Given the description of an element on the screen output the (x, y) to click on. 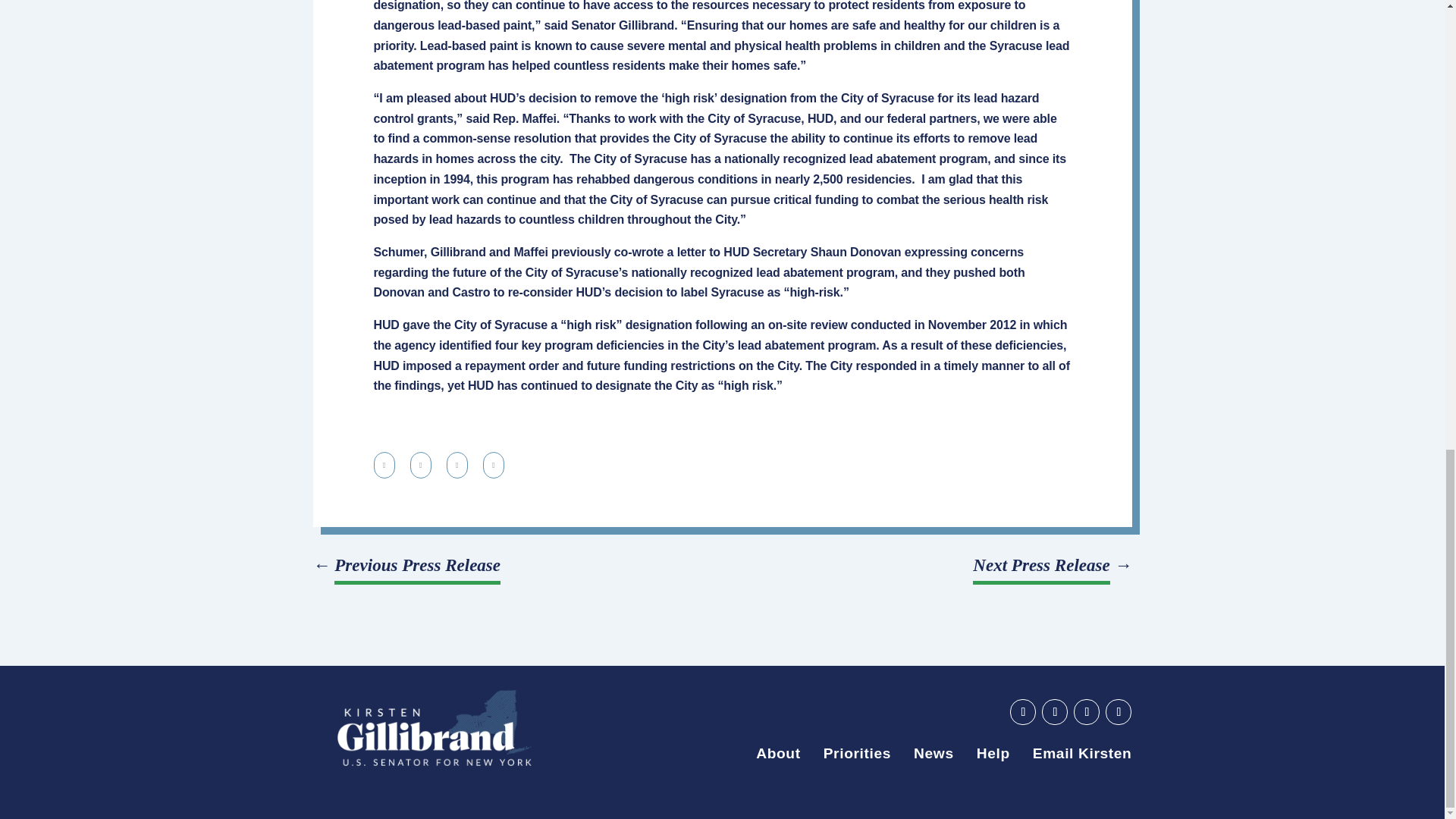
Follow on Twitter (1086, 711)
Follow on Facebook (1054, 711)
Follow on Instagram (1118, 711)
gillibrand-logo (434, 727)
Follow on Youtube (1022, 711)
